Given the description of an element on the screen output the (x, y) to click on. 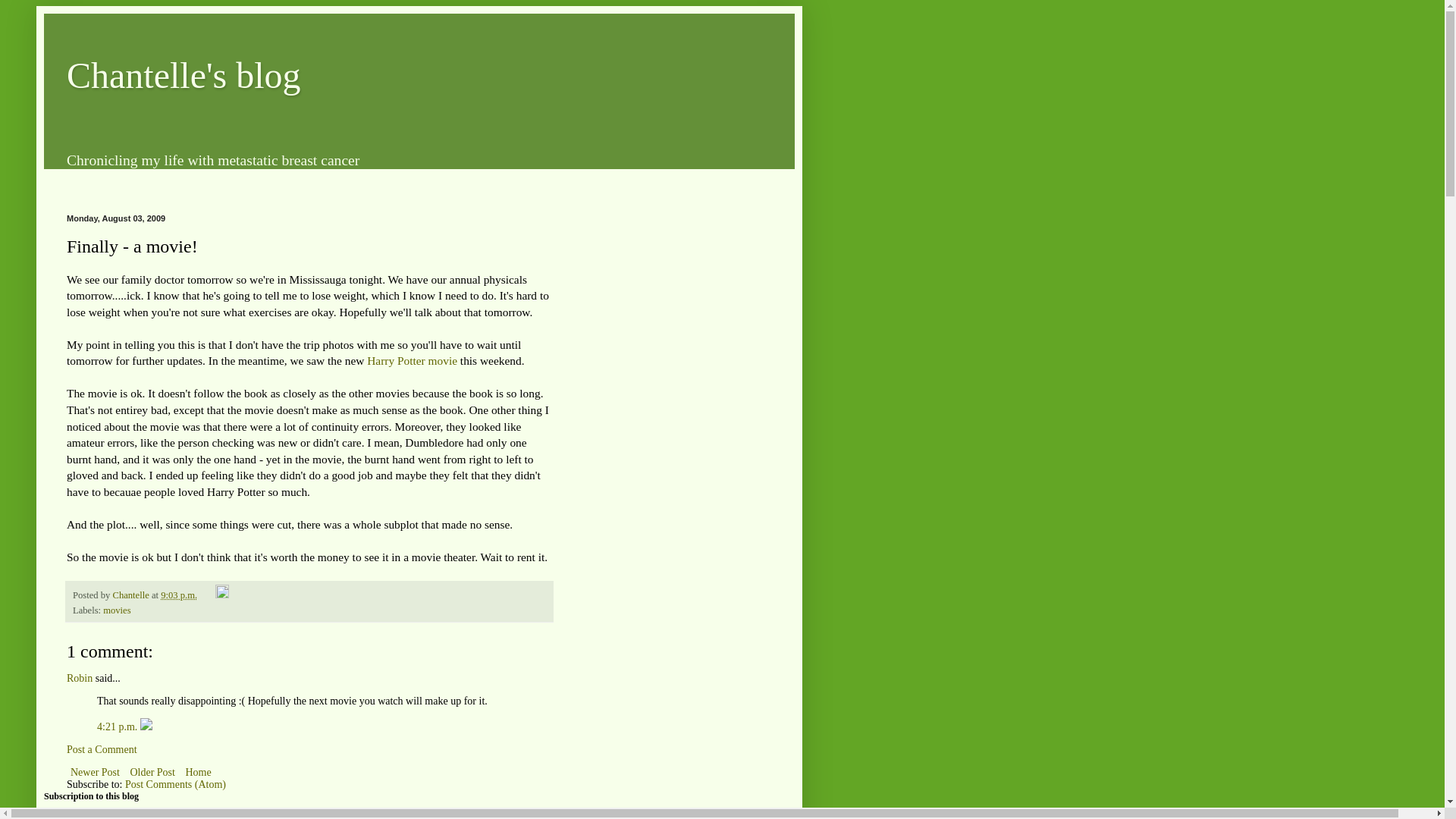
Harry Potter movie (411, 359)
comment permalink (118, 726)
Newer Post (94, 772)
author profile (131, 594)
9:03 p.m. (178, 594)
permanent link (178, 594)
Chantelle's blog (183, 75)
Edit Post (221, 594)
Delete Comment (145, 726)
Chantelle (131, 594)
Home (197, 772)
Newer Post (94, 772)
Robin (79, 677)
Post a Comment (101, 749)
Email Post (207, 594)
